Given the description of an element on the screen output the (x, y) to click on. 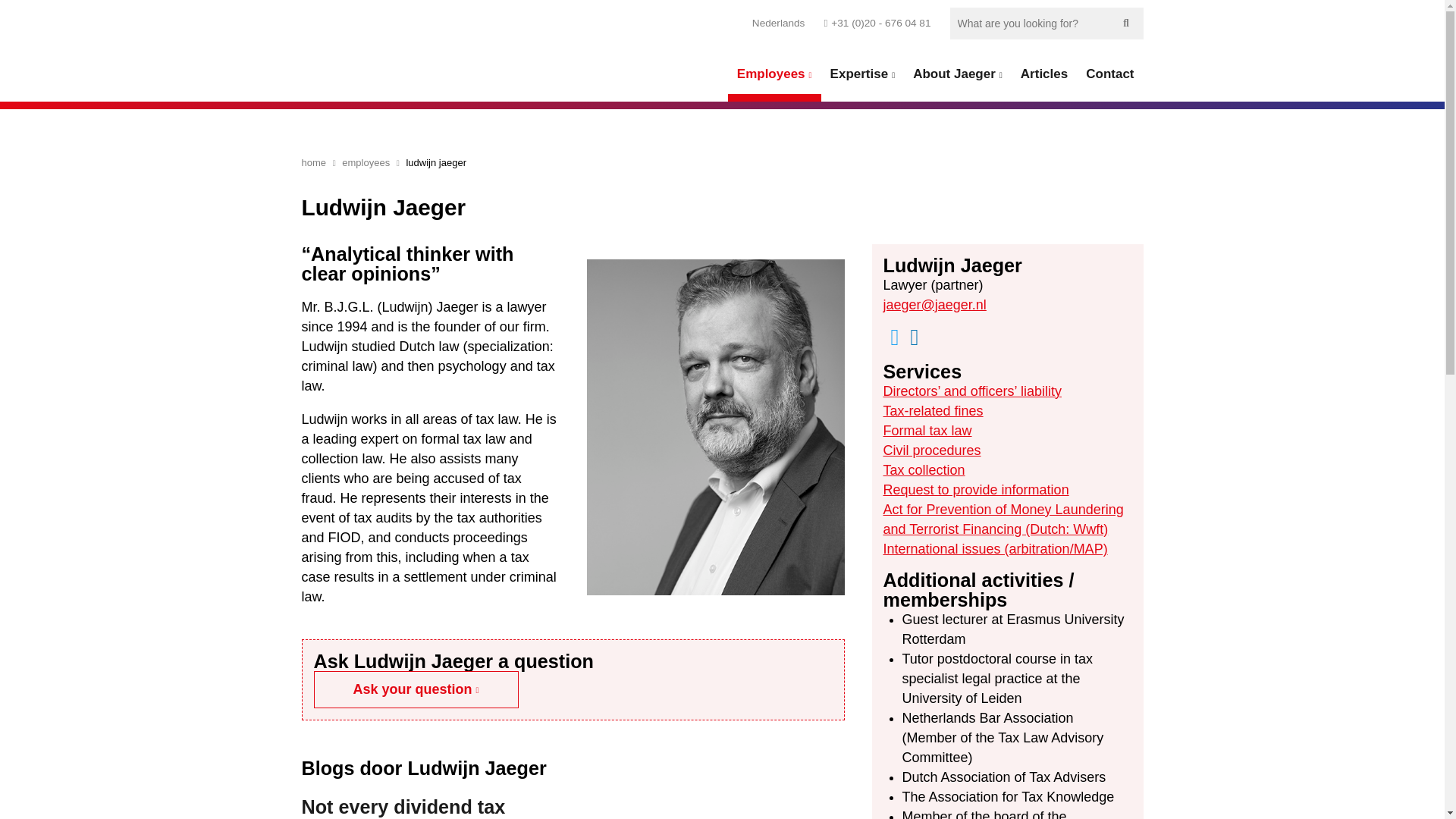
Expertise (862, 73)
Nederlands (778, 22)
Employees (774, 73)
